Given the description of an element on the screen output the (x, y) to click on. 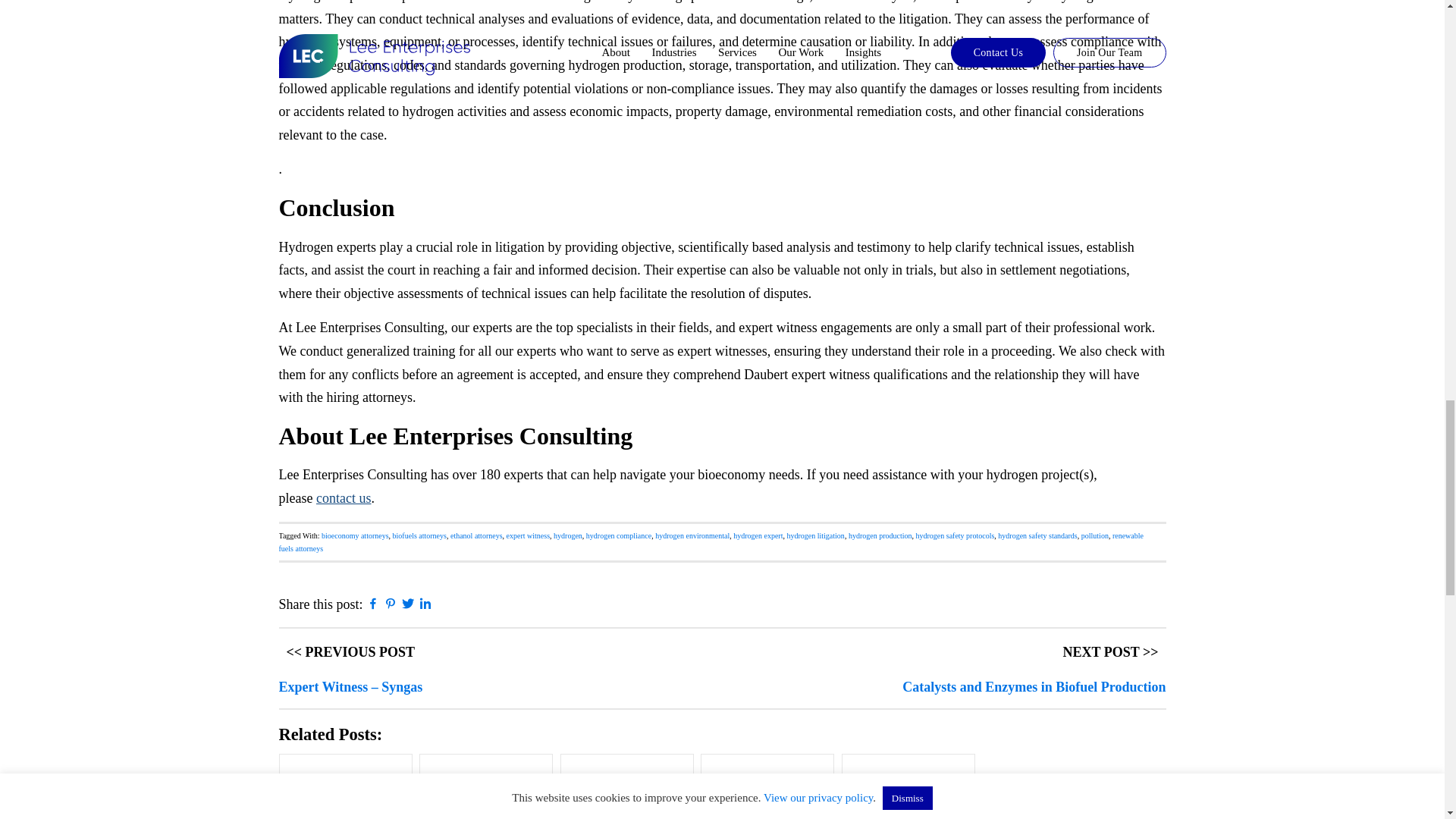
Catalysts and Enzymes in Biofuel Production (626, 786)
Pin on Pinterest (390, 605)
contact us (343, 498)
Share on Facebook (373, 605)
The Expert Witness in Biofuels and Biochemicals Litigation (767, 786)
Biogas Experts (345, 786)
Bioenergy:  An Overview (486, 786)
expert witness (528, 534)
Share on Twitter (407, 605)
ethanol attorneys (475, 534)
